Given the description of an element on the screen output the (x, y) to click on. 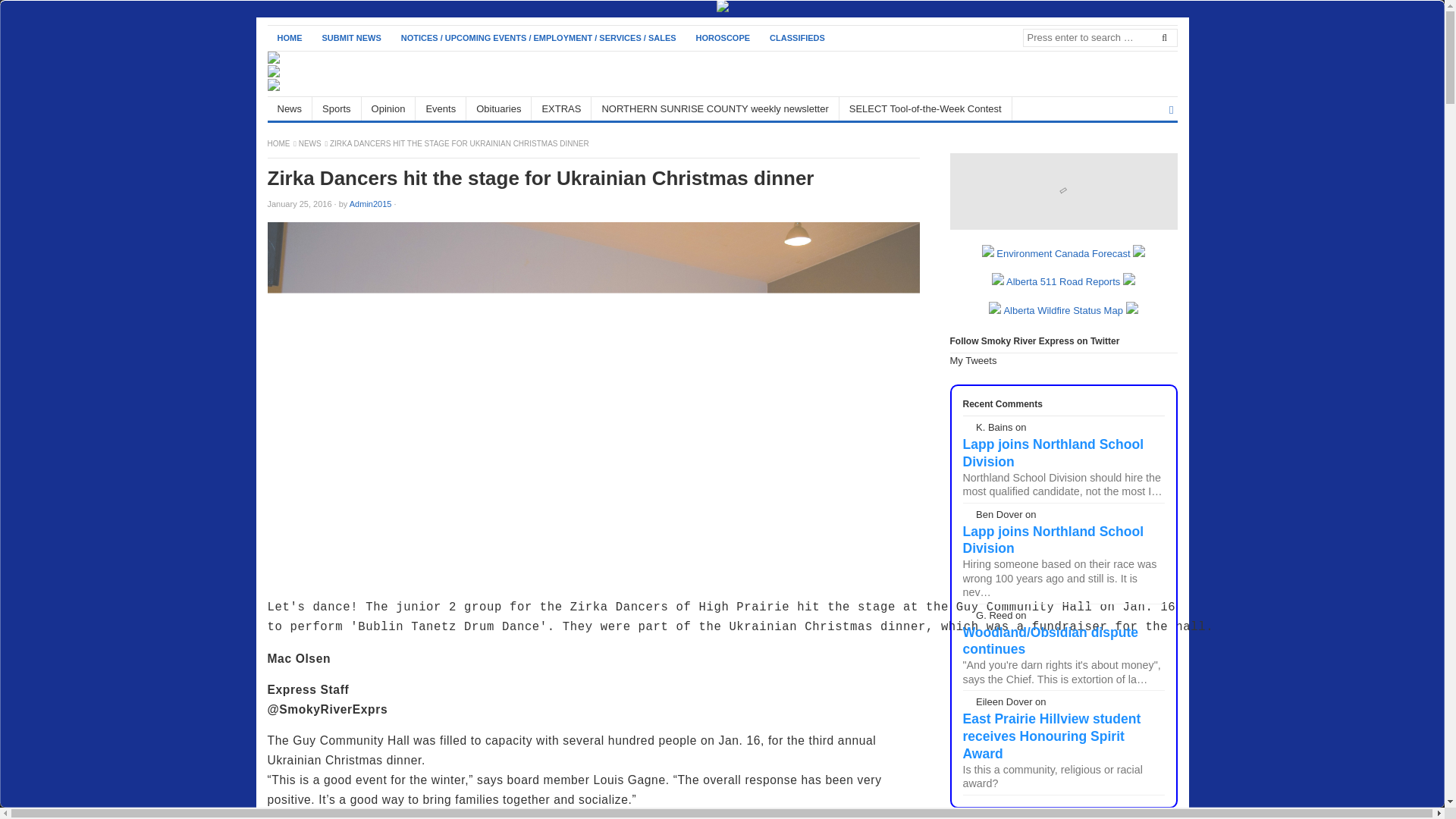
Opinion (388, 108)
HOME (278, 143)
Alberta Wildfire Status Map (1062, 310)
SUBMIT NEWS (352, 37)
NORTHERN SUNRISE COUNTY weekly newsletter (714, 108)
HOROSCOPE (722, 37)
EXTRAS (561, 108)
Admin2015 (370, 203)
Events (439, 108)
SELECT Tool-of-the-Week Contest (925, 108)
